Given the description of an element on the screen output the (x, y) to click on. 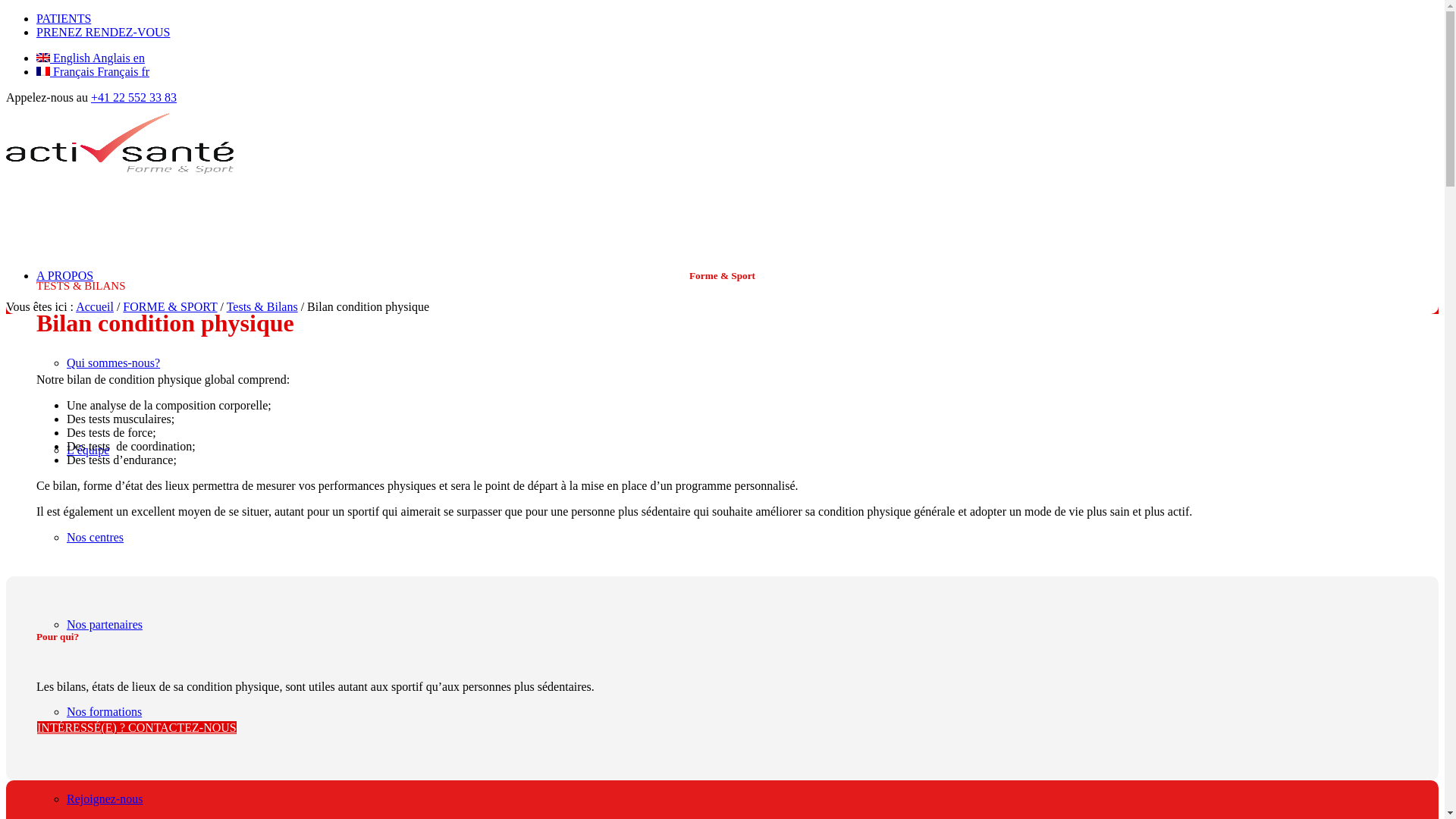
PRENEZ RENDEZ-VOUS Element type: text (102, 31)
Accueil Element type: text (94, 306)
PATIENTS Element type: text (63, 18)
English Anglais en Element type: text (90, 57)
FORME & SPORT Element type: text (169, 306)
Qui sommes-nous? Element type: text (113, 362)
Rejoignez-nous Element type: text (104, 798)
Nos partenaires Element type: text (104, 624)
Nos formations Element type: text (103, 711)
English Element type: hover (43, 57)
Tests & Bilans Element type: text (262, 306)
Nos centres Element type: text (94, 536)
A PROPOS Element type: text (64, 275)
+41 22 552 33 83 Element type: text (133, 97)
